Given the description of an element on the screen output the (x, y) to click on. 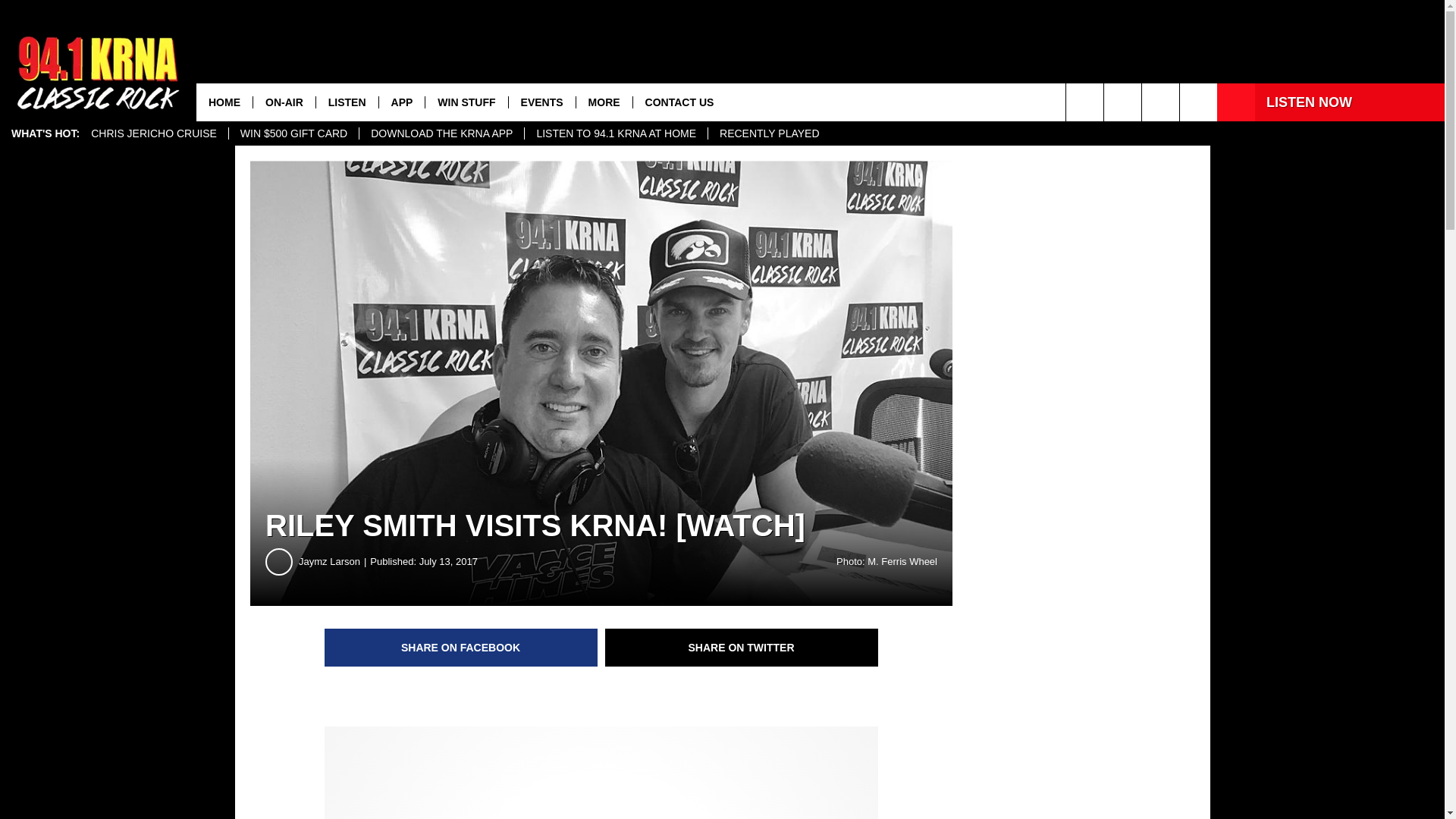
HOME (223, 102)
EVENTS (541, 102)
DOWNLOAD THE KRNA APP (441, 133)
CHRIS JERICHO CRUISE (154, 133)
MORE (603, 102)
Share on Twitter (741, 647)
WIN STUFF (465, 102)
LISTEN (346, 102)
RECENTLY PLAYED (769, 133)
APP (401, 102)
